Given the description of an element on the screen output the (x, y) to click on. 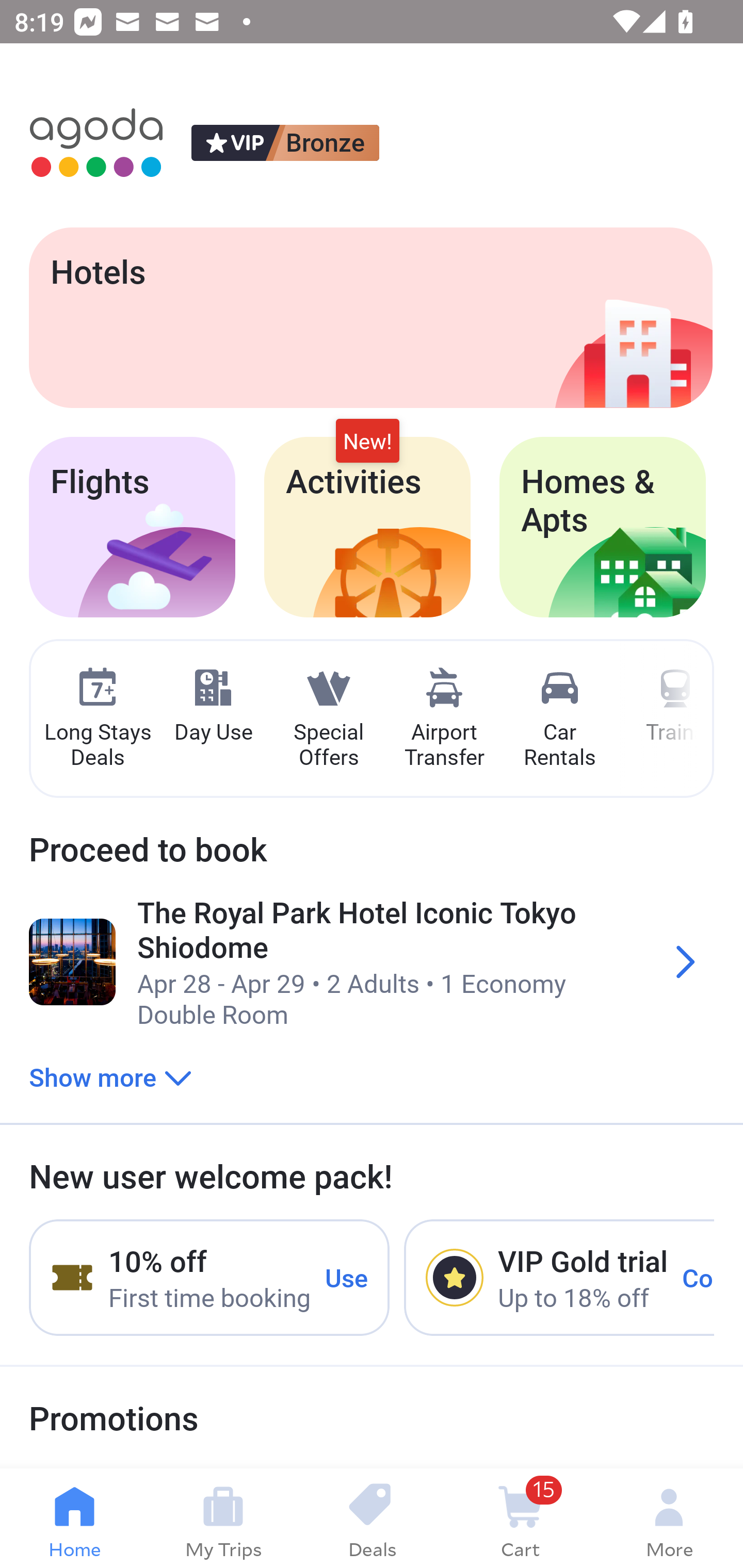
Hotels (370, 317)
New! (367, 441)
Flights (131, 527)
Activities (367, 527)
Homes & Apts (602, 527)
Day Use (213, 706)
Long Stays Deals (97, 718)
Special Offers (328, 718)
Airport Transfer (444, 718)
Car Rentals (559, 718)
Show more (110, 1076)
Use (346, 1277)
Home (74, 1518)
My Trips (222, 1518)
Deals (371, 1518)
15 Cart (519, 1518)
More (668, 1518)
